Given the description of an element on the screen output the (x, y) to click on. 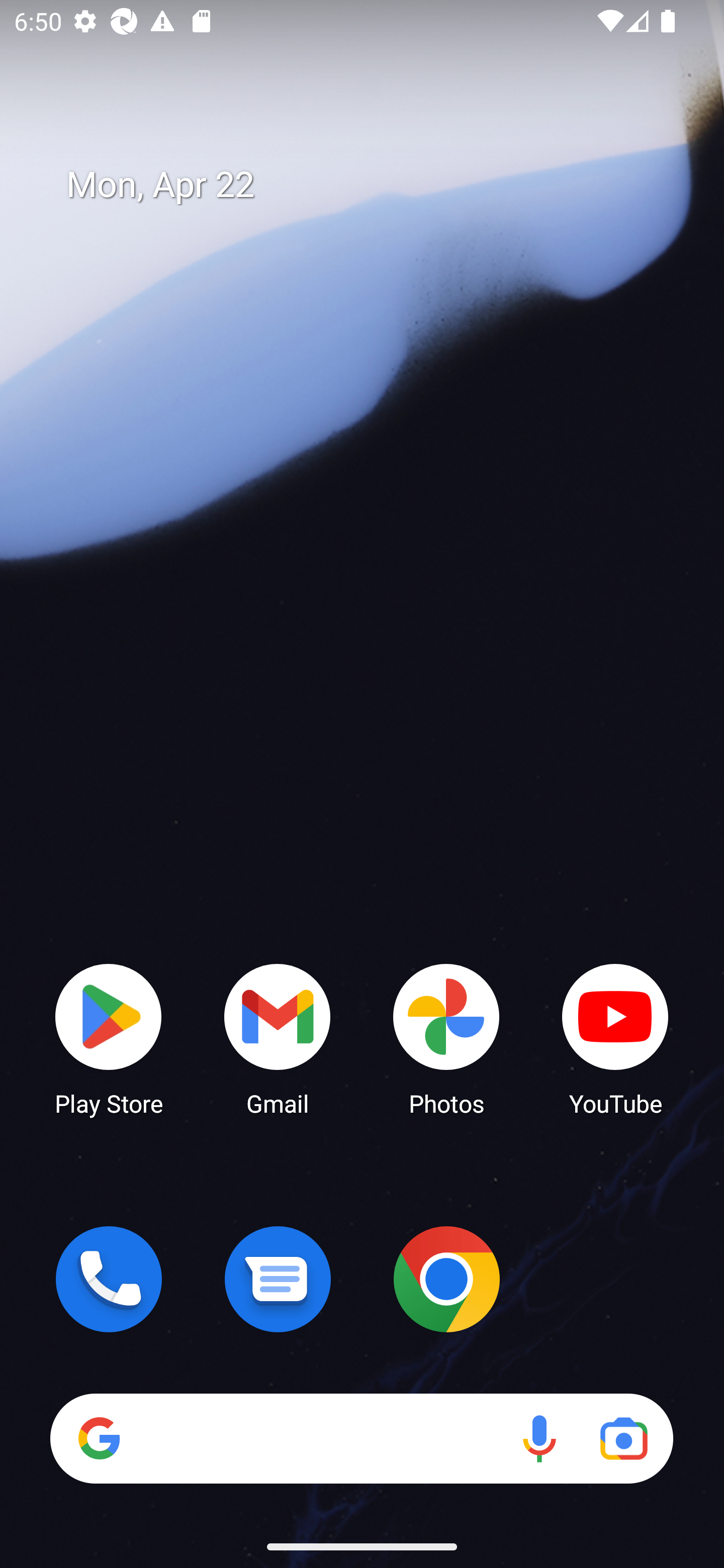
Mon, Apr 22 (375, 184)
Play Store (108, 1038)
Gmail (277, 1038)
Photos (445, 1038)
YouTube (615, 1038)
Phone (108, 1279)
Messages (277, 1279)
Chrome (446, 1279)
Search Voice search Google Lens (361, 1438)
Voice search (539, 1438)
Google Lens (623, 1438)
